Given the description of an element on the screen output the (x, y) to click on. 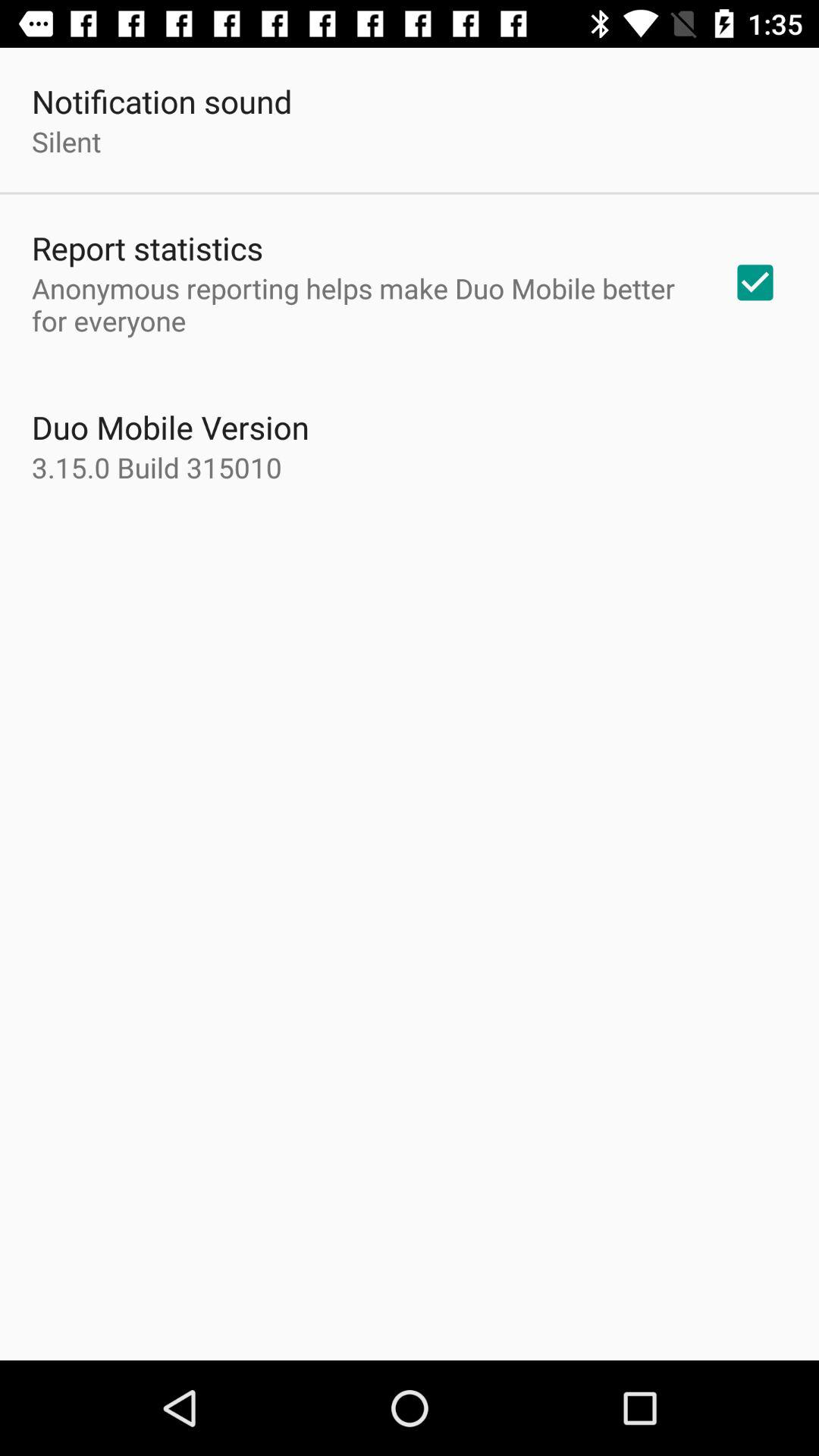
select the 3 15 0 item (156, 467)
